Given the description of an element on the screen output the (x, y) to click on. 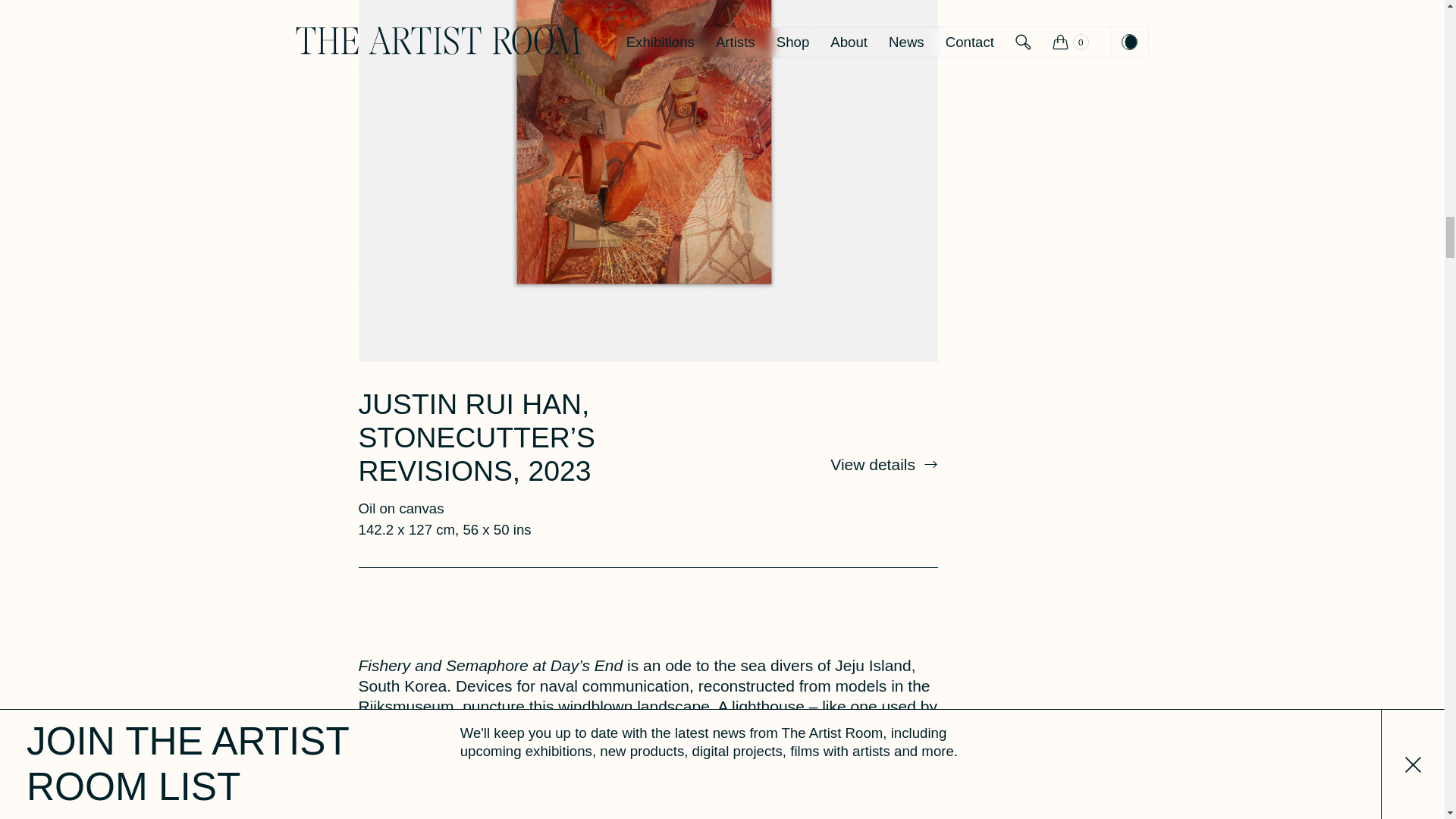
View details (883, 464)
